Given the description of an element on the screen output the (x, y) to click on. 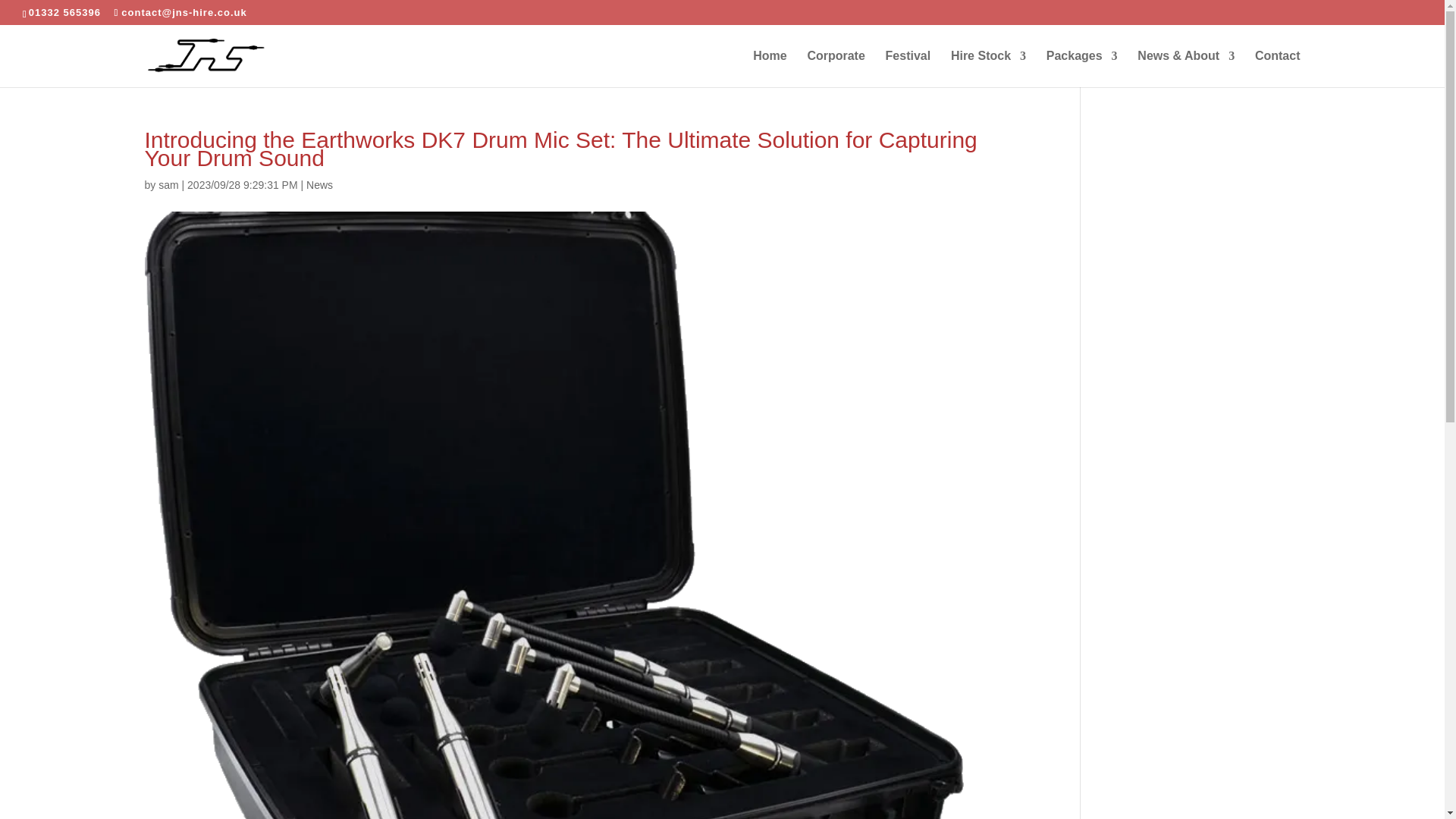
Festival (908, 67)
Corporate (835, 67)
Contact (1277, 67)
Home (769, 67)
01332 565396 (64, 12)
Hire Stock (988, 67)
Posts by sam (167, 184)
Packages (1082, 67)
